Given the description of an element on the screen output the (x, y) to click on. 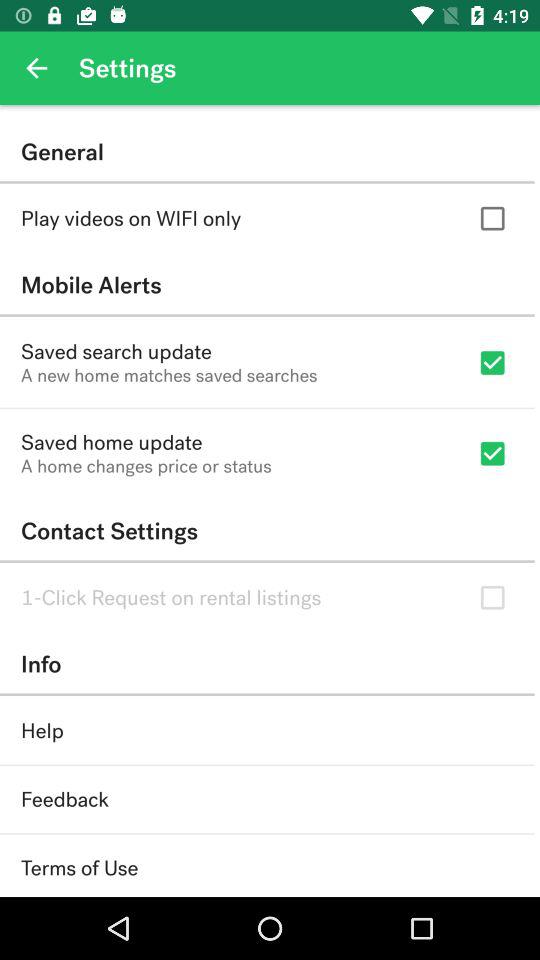
scroll to 1 click request icon (171, 597)
